Given the description of an element on the screen output the (x, y) to click on. 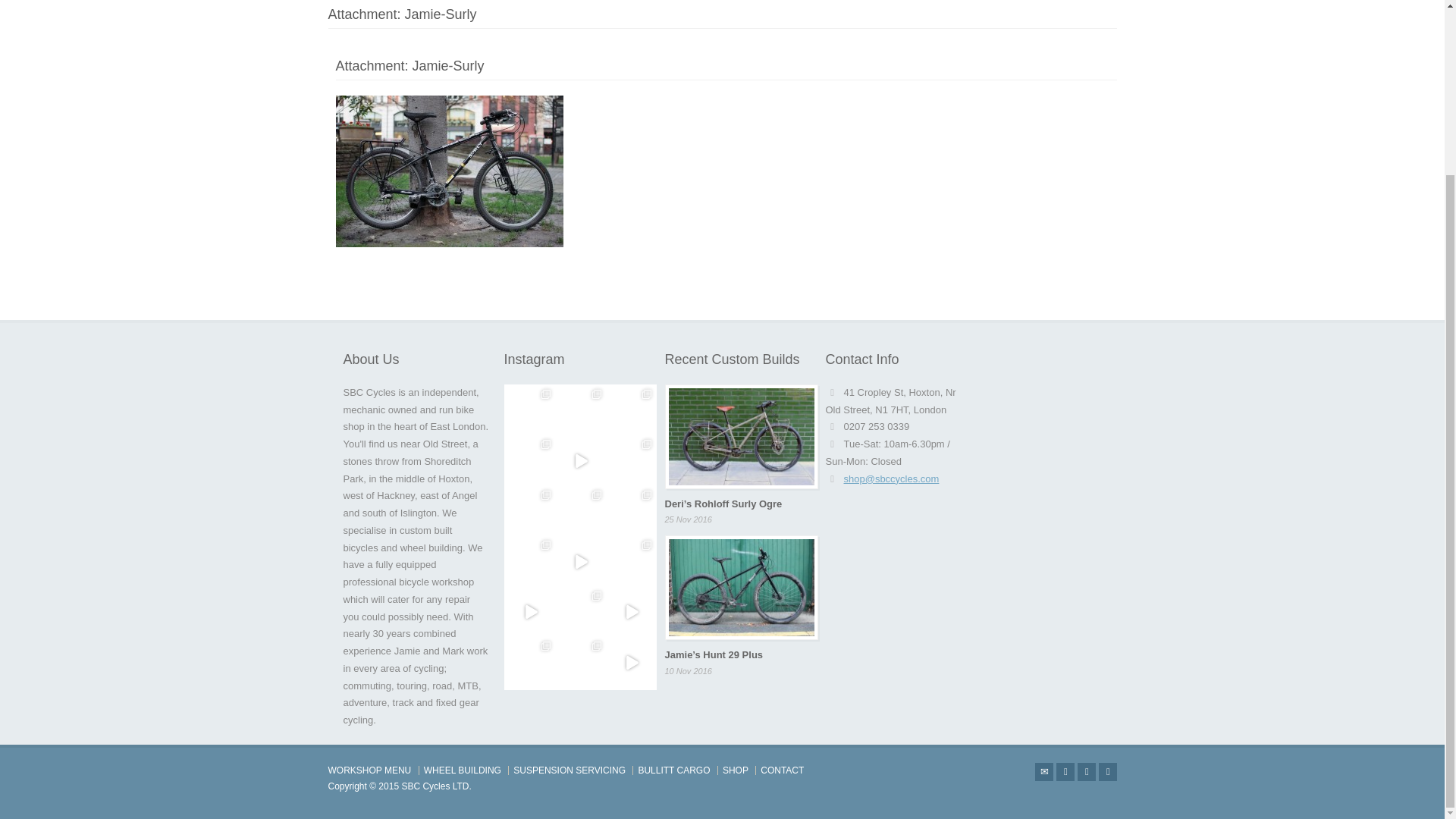
Spotify (1085, 771)
Instagram (1106, 771)
Facebook (1064, 771)
Email (1042, 771)
